Given the description of an element on the screen output the (x, y) to click on. 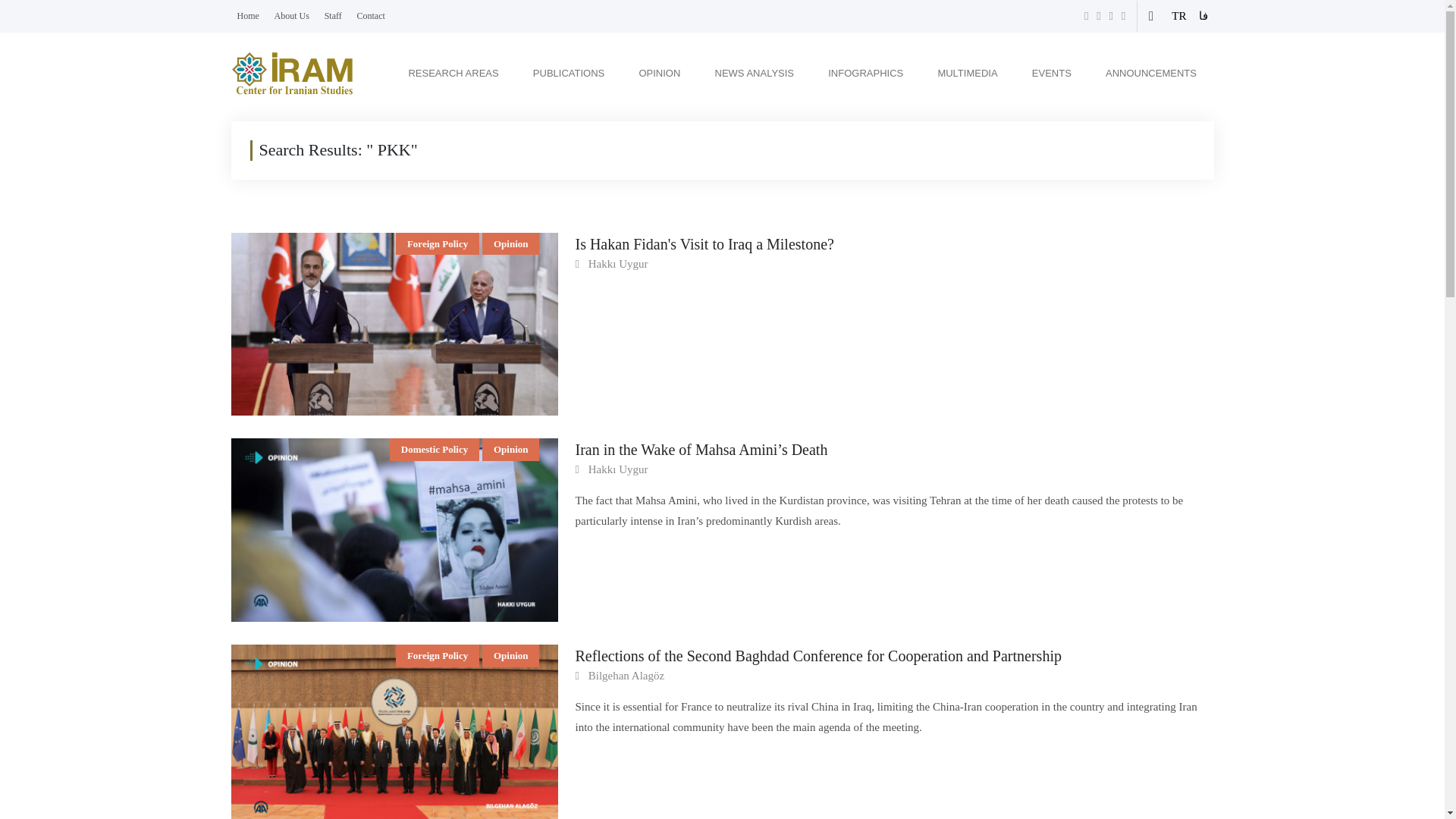
OPINION (658, 73)
NEWS ANALYSIS (754, 73)
Staff (333, 15)
PUBLICATIONS (568, 73)
About Us (291, 15)
Contact (370, 15)
INFOGRAPHICS (865, 73)
MULTIMEDIA (967, 73)
Home (247, 15)
RESEARCH AREAS (452, 73)
